Given the description of an element on the screen output the (x, y) to click on. 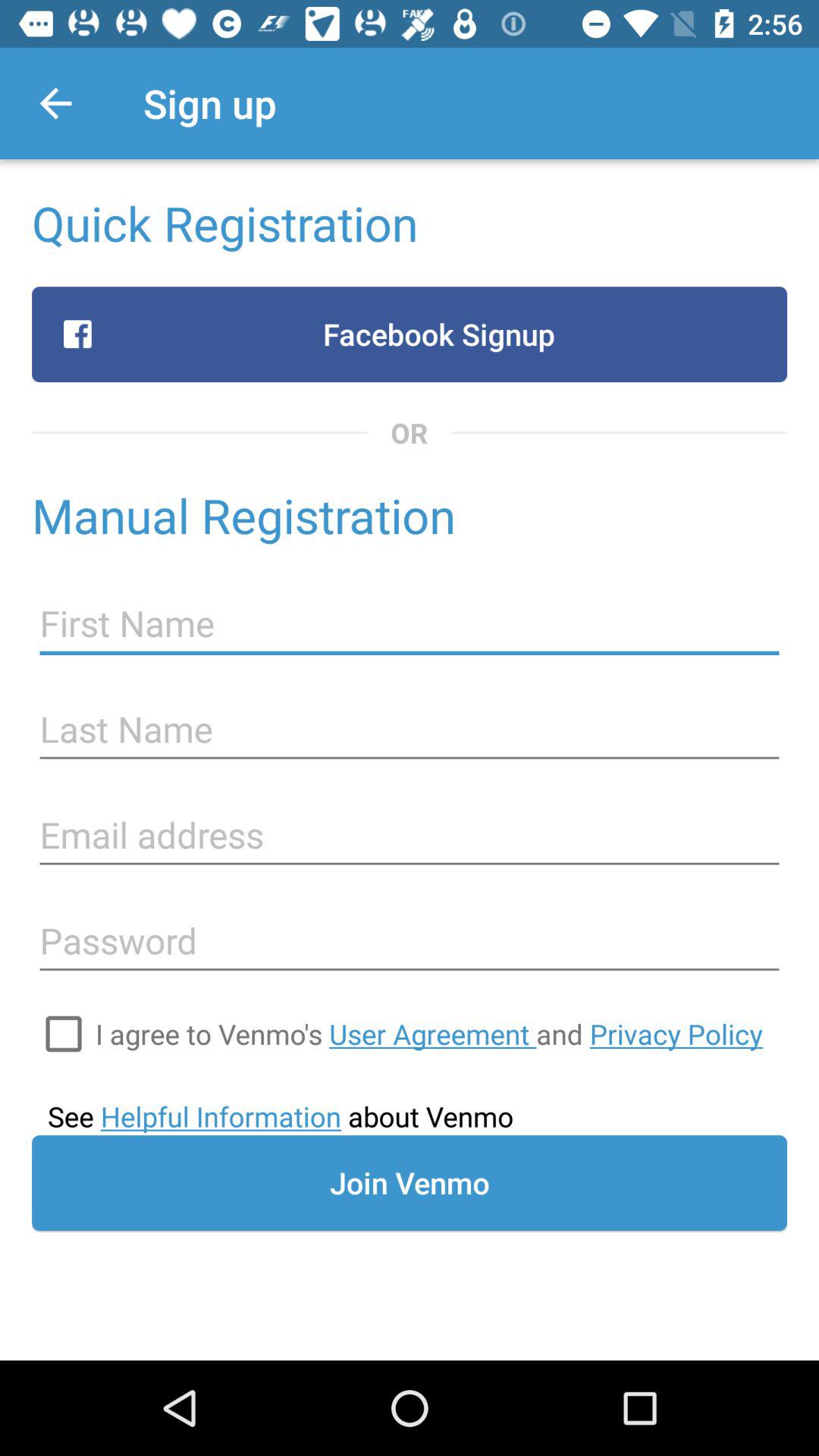
open see helpful information item (280, 1116)
